Given the description of an element on the screen output the (x, y) to click on. 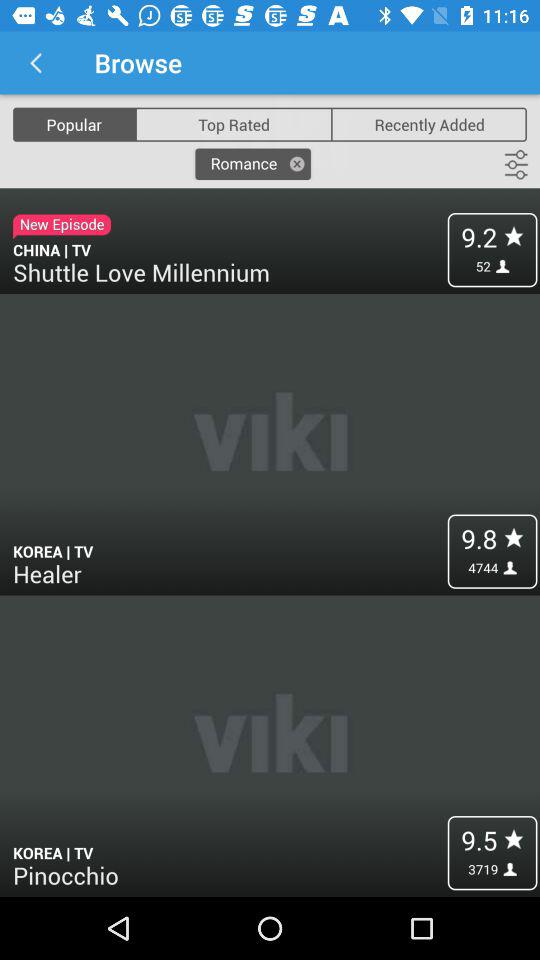
launch the icon above the new episode item (74, 124)
